Given the description of an element on the screen output the (x, y) to click on. 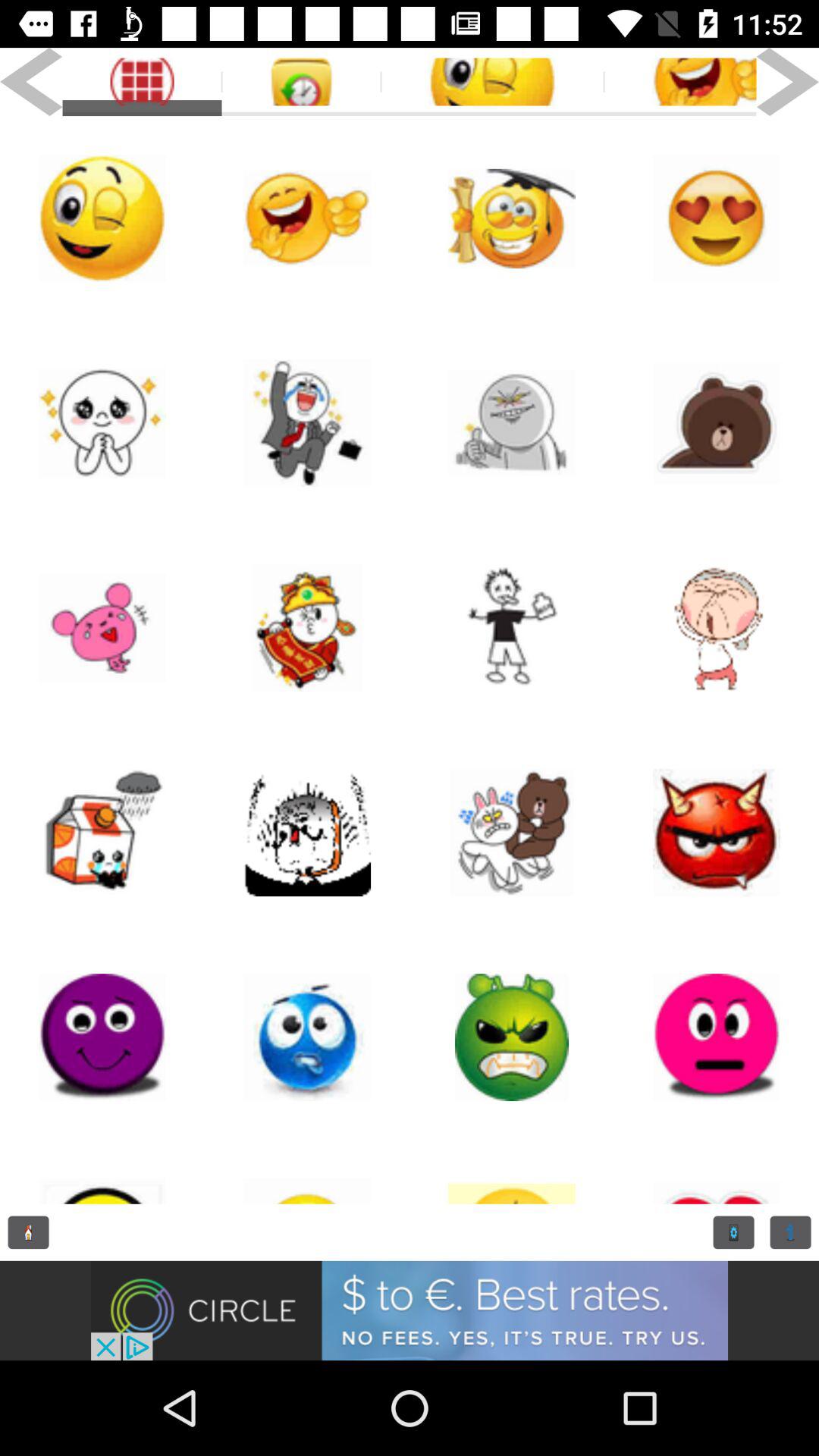
wink emoji (492, 81)
